Given the description of an element on the screen output the (x, y) to click on. 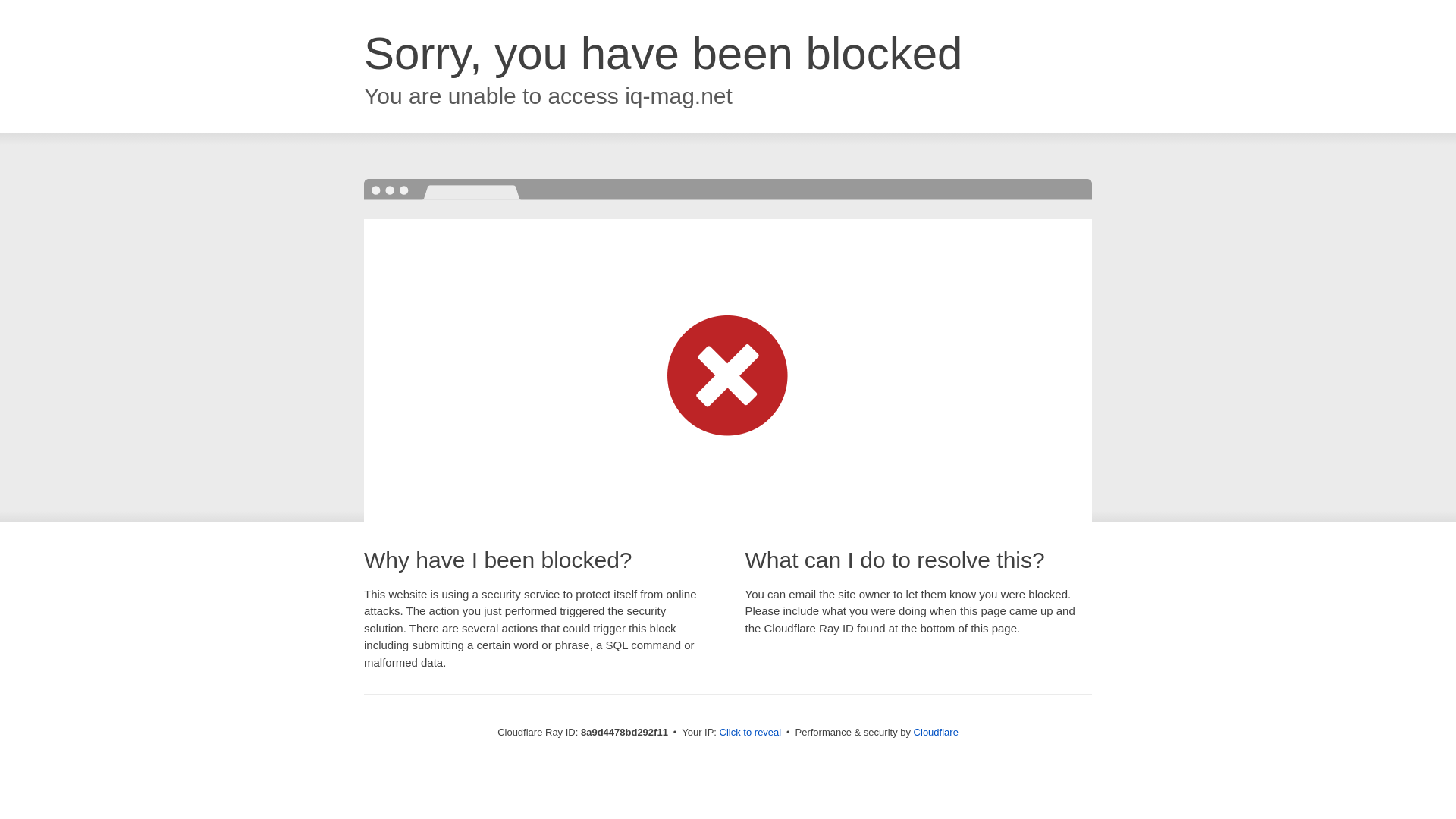
Click to reveal (750, 732)
Cloudflare (936, 731)
